Given the description of an element on the screen output the (x, y) to click on. 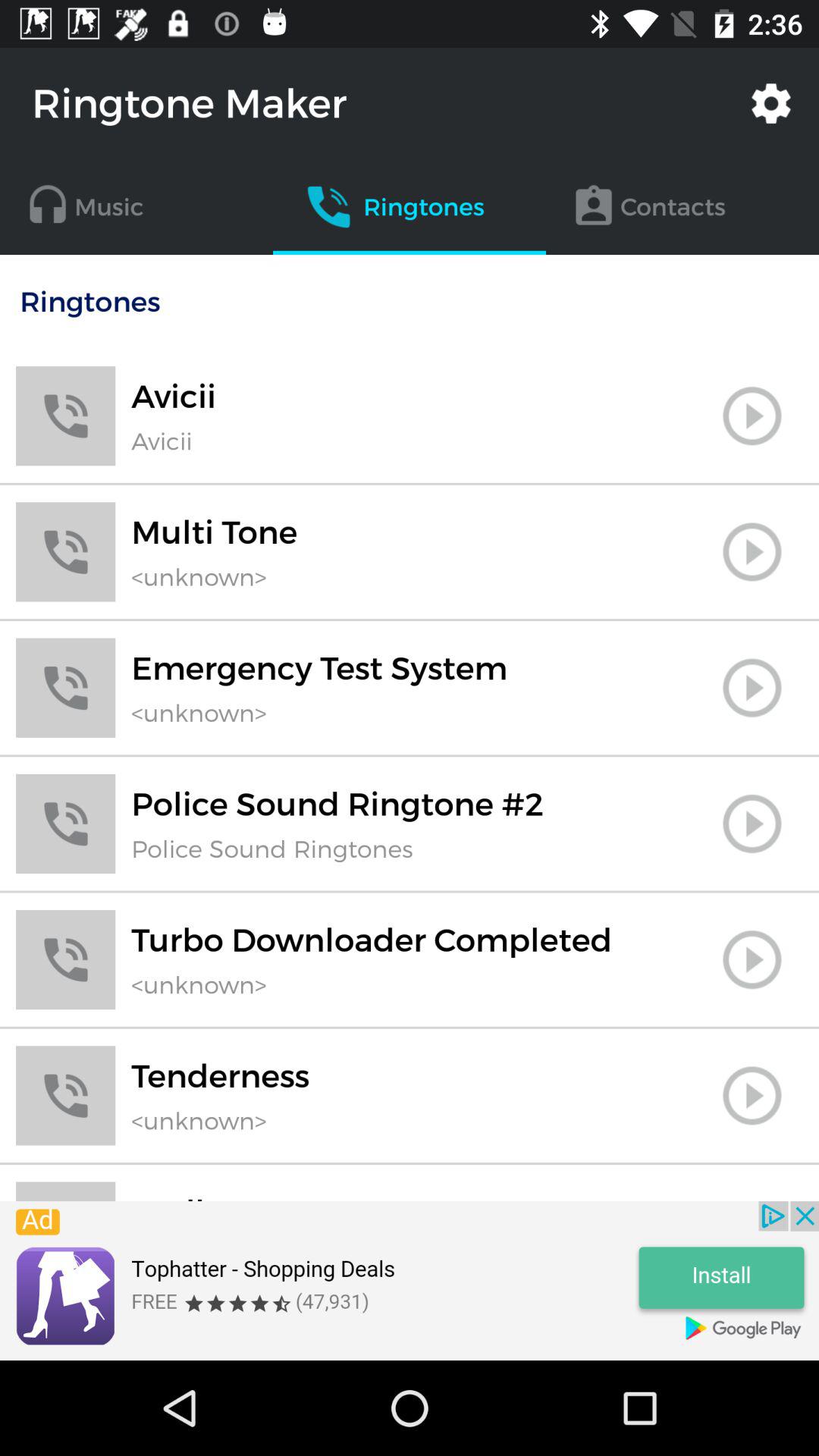
play button (752, 687)
